Given the description of an element on the screen output the (x, y) to click on. 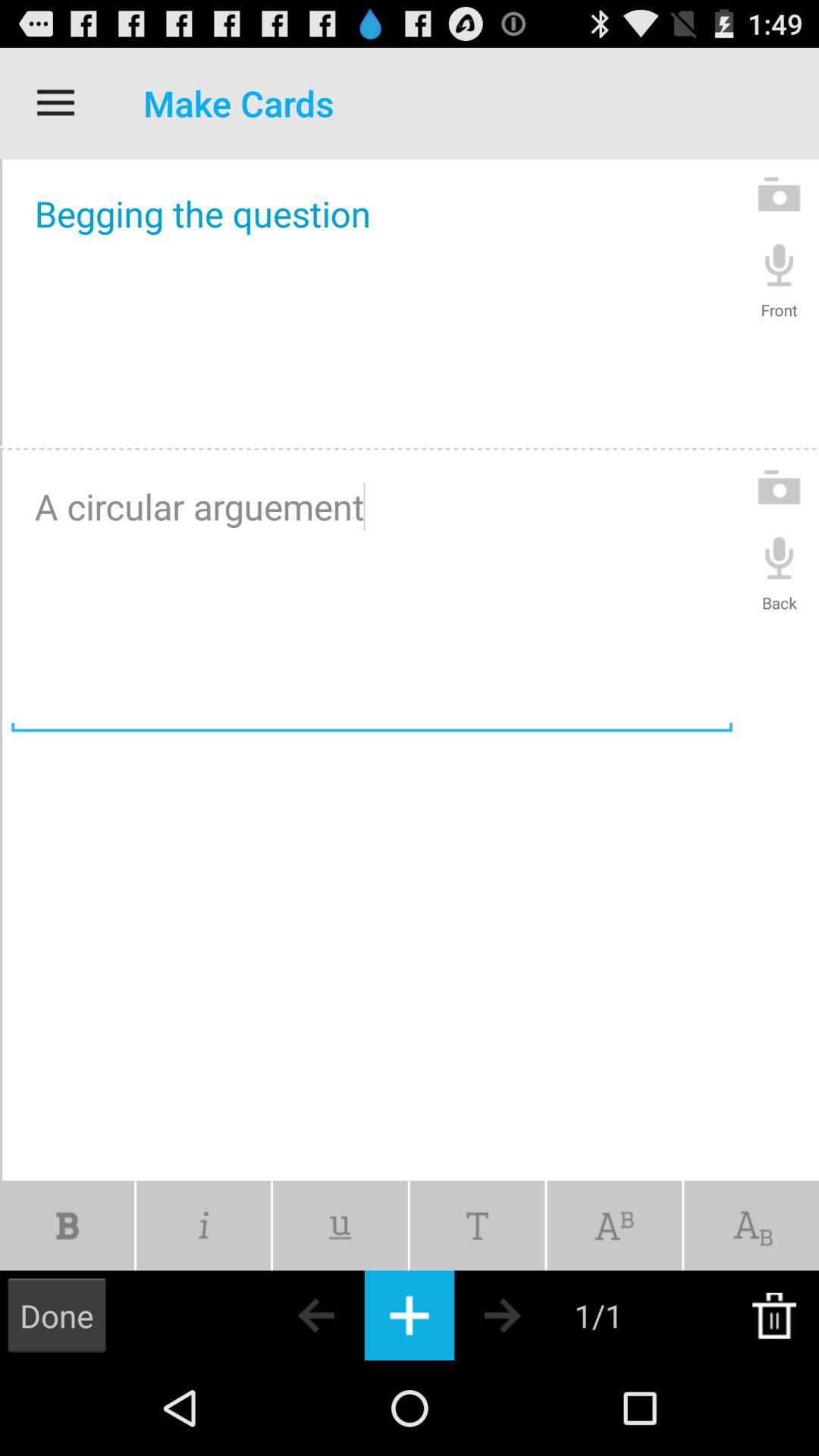
open the item to the left of the 1/1 icon (529, 1315)
